Given the description of an element on the screen output the (x, y) to click on. 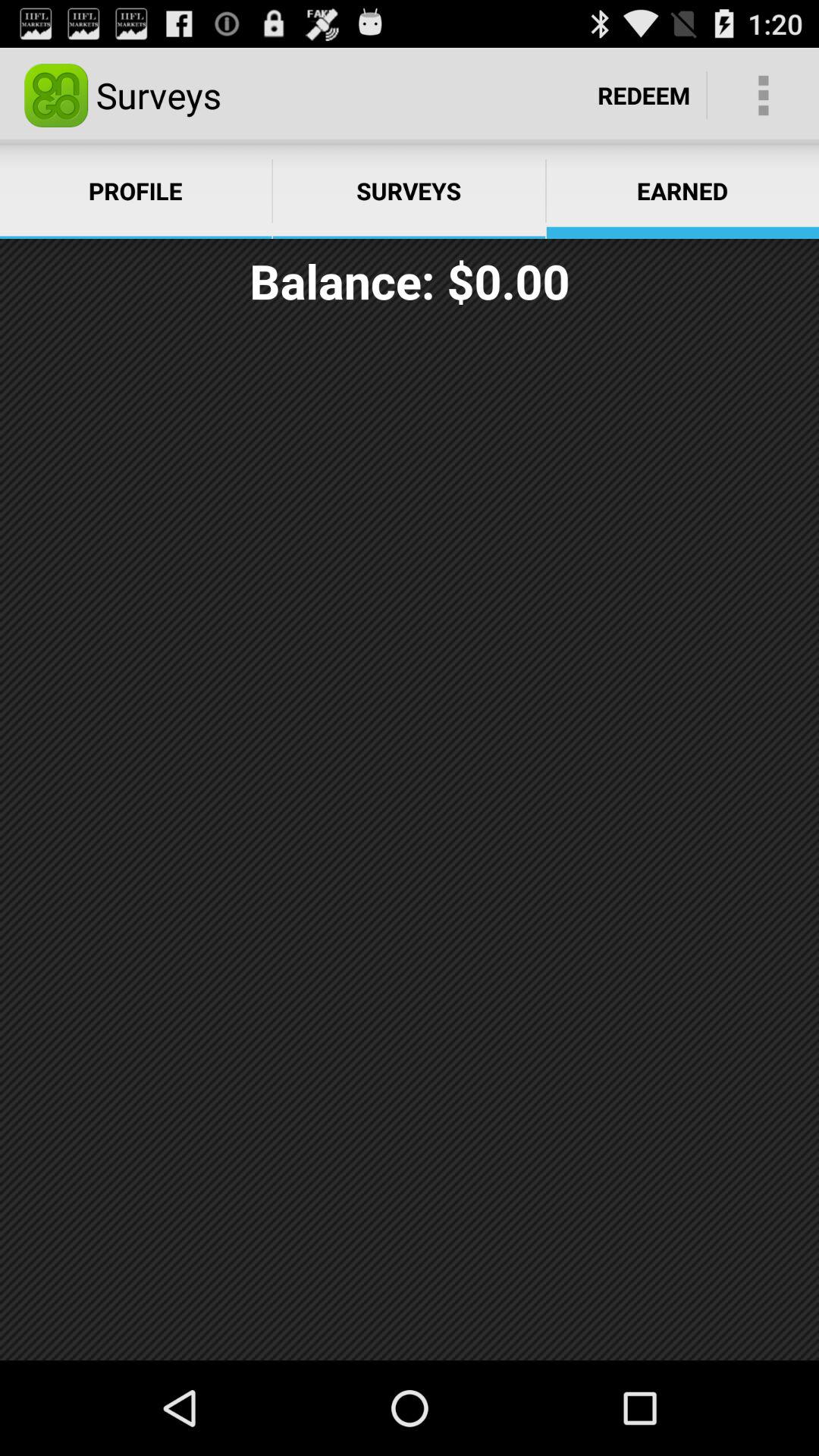
swipe to the redeem icon (643, 95)
